Given the description of an element on the screen output the (x, y) to click on. 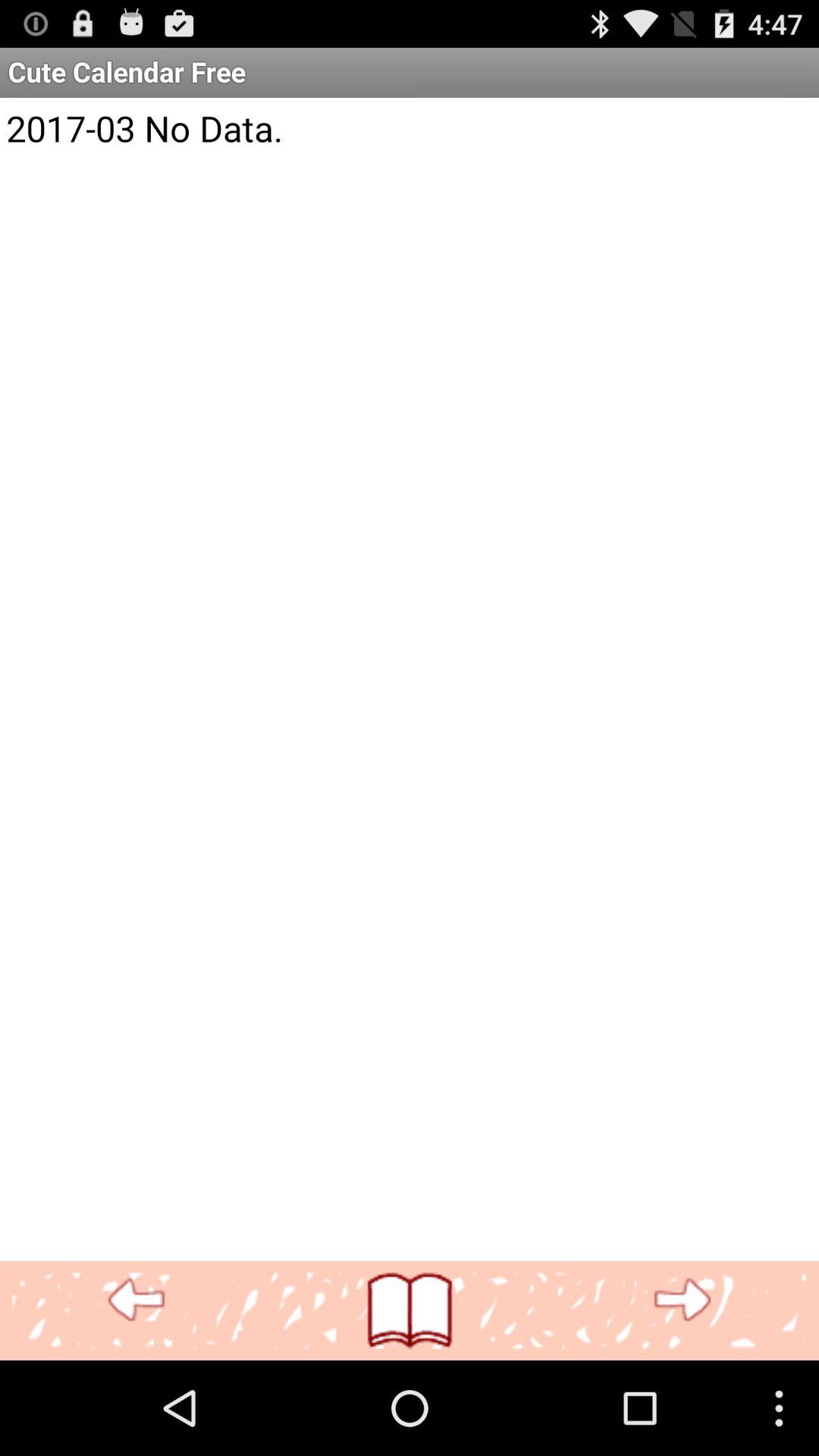
turn off icon below 2017 03 no item (409, 1310)
